Given the description of an element on the screen output the (x, y) to click on. 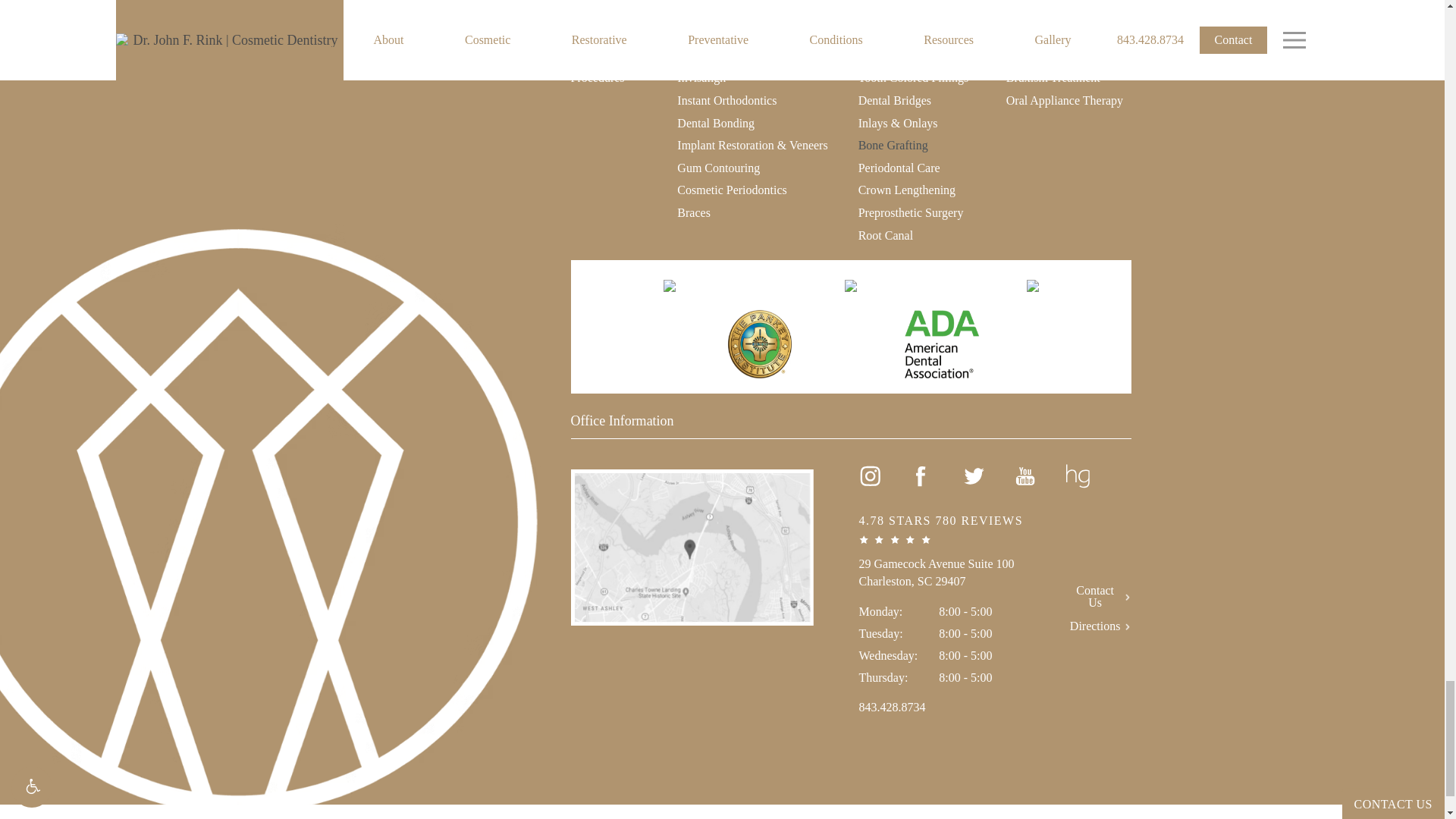
John F. Rink DDS, AAACD on Facebook (921, 476)
John F. Rink DDS, AAACD on Twitter (972, 476)
John F. Rink DDS, AAACD on Instagram (869, 476)
John F. Rink DDS, AAACD on Healthgrades (1077, 476)
John F. Rink DDS, AAACD on Youtube (1025, 476)
